Given the description of an element on the screen output the (x, y) to click on. 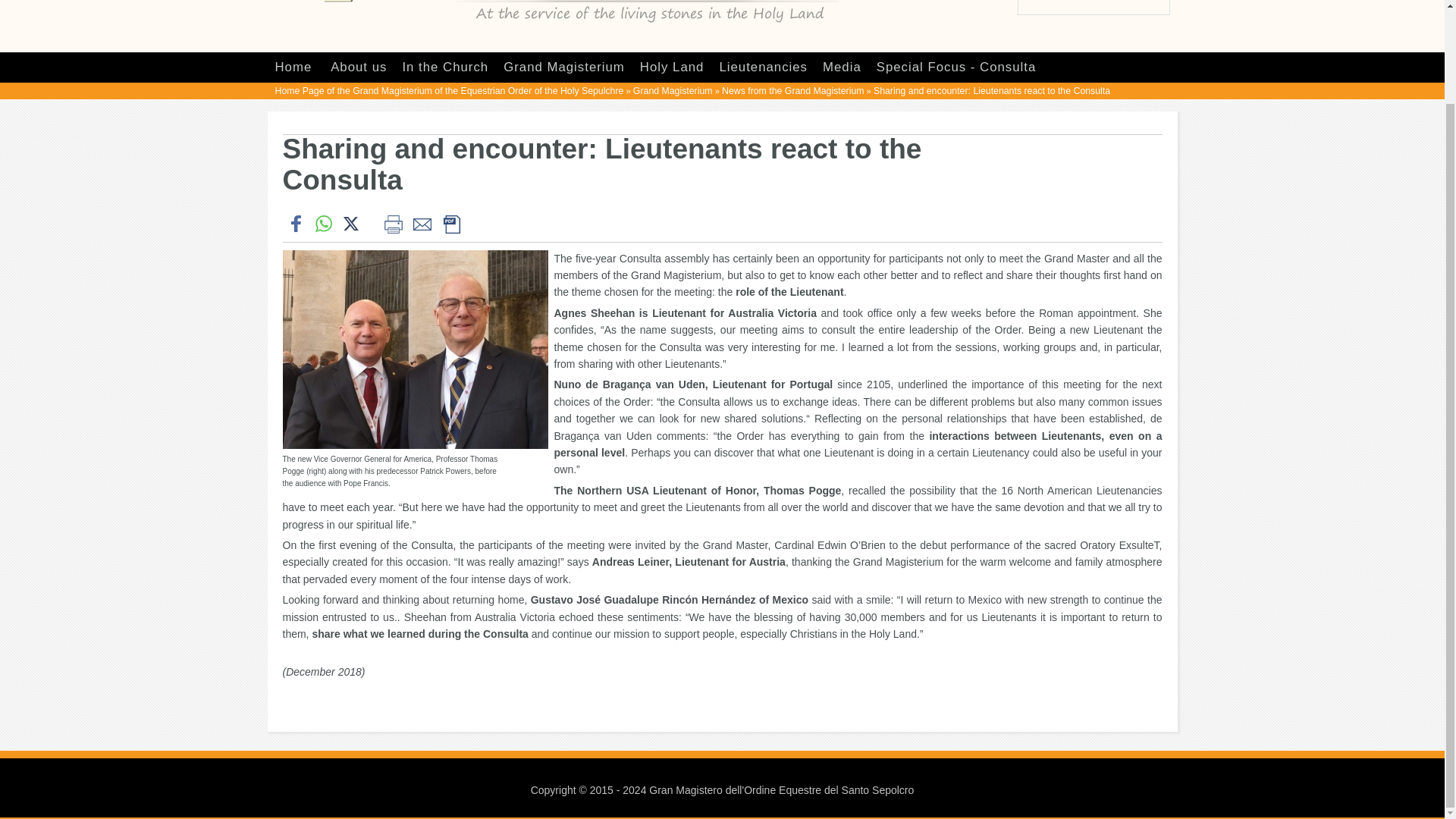
Lieutenancies (763, 66)
Print (392, 223)
Holy Land (672, 66)
Mail (422, 223)
Consulta5 (417, 349)
Grand Magisterium (673, 90)
Search (1160, 7)
Pdf (451, 223)
About us (358, 66)
